Given the description of an element on the screen output the (x, y) to click on. 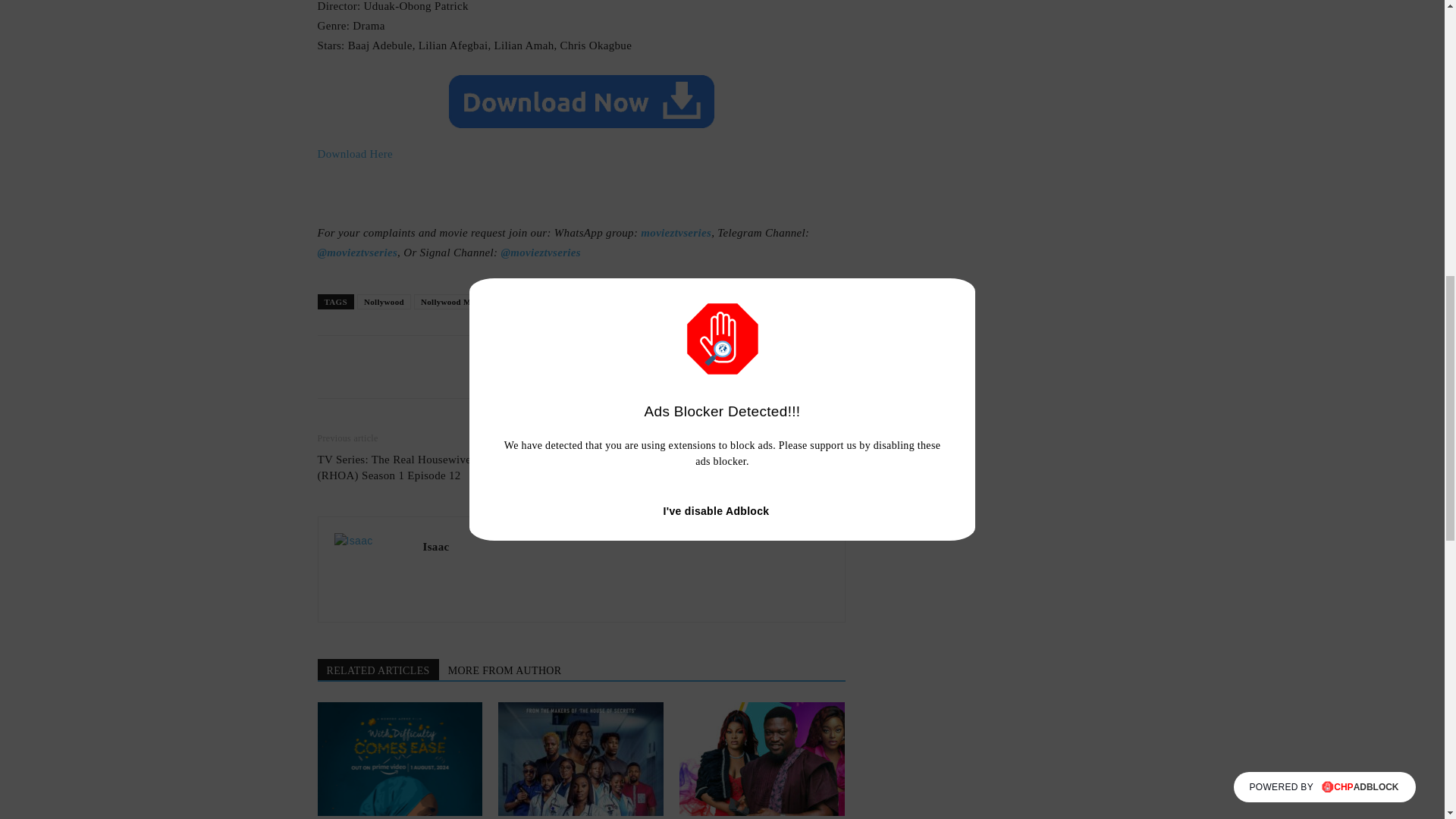
Nollywood (383, 301)
Download Here (355, 153)
Nollywood Movie (453, 301)
movieztvseries (675, 232)
